Given the description of an element on the screen output the (x, y) to click on. 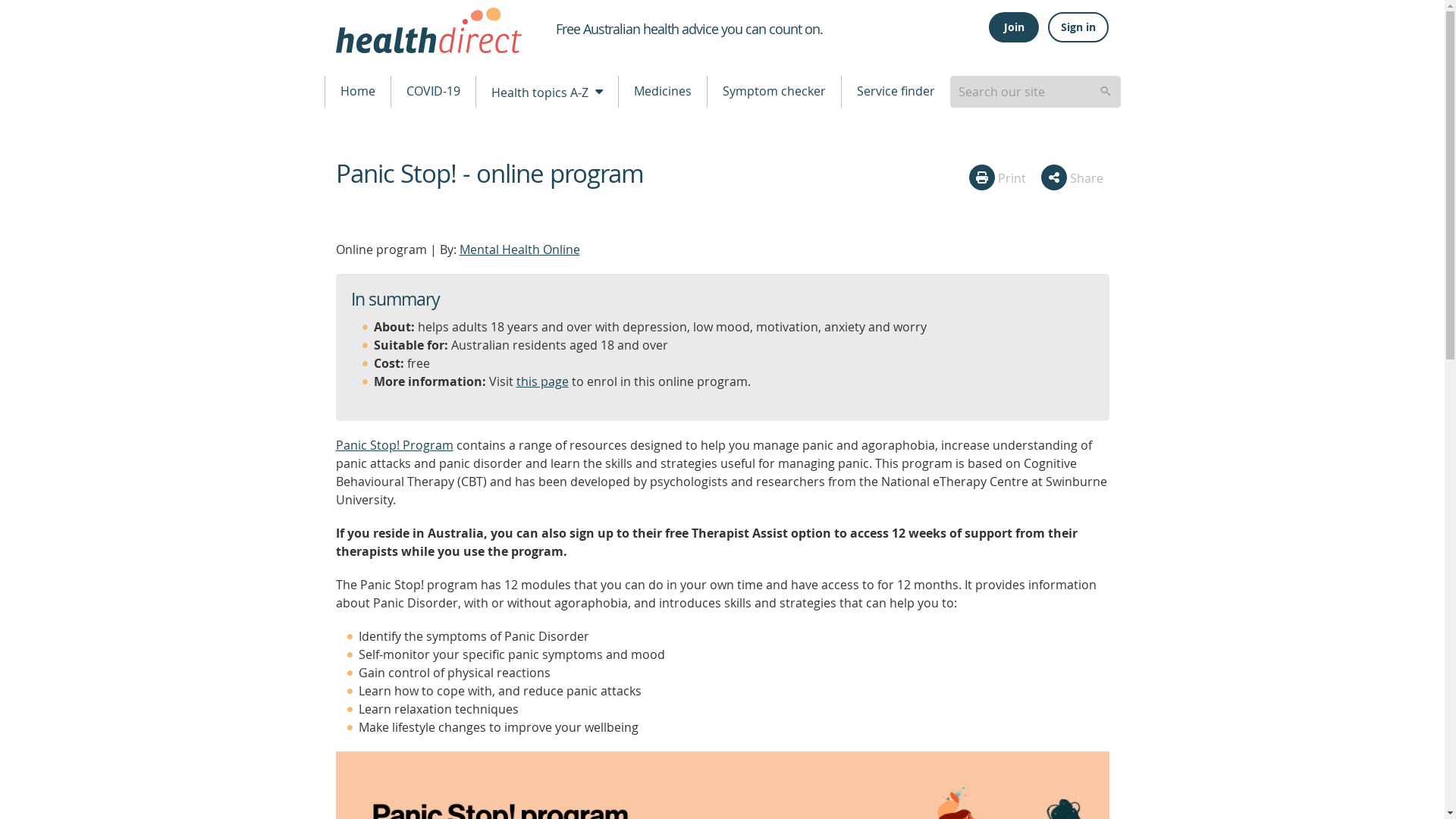
COVID-19 (433, 91)
Suggestion options (1034, 91)
Home (357, 91)
Join (1013, 27)
Sign in (1078, 27)
Health topics A-Z (546, 91)
